Given the description of an element on the screen output the (x, y) to click on. 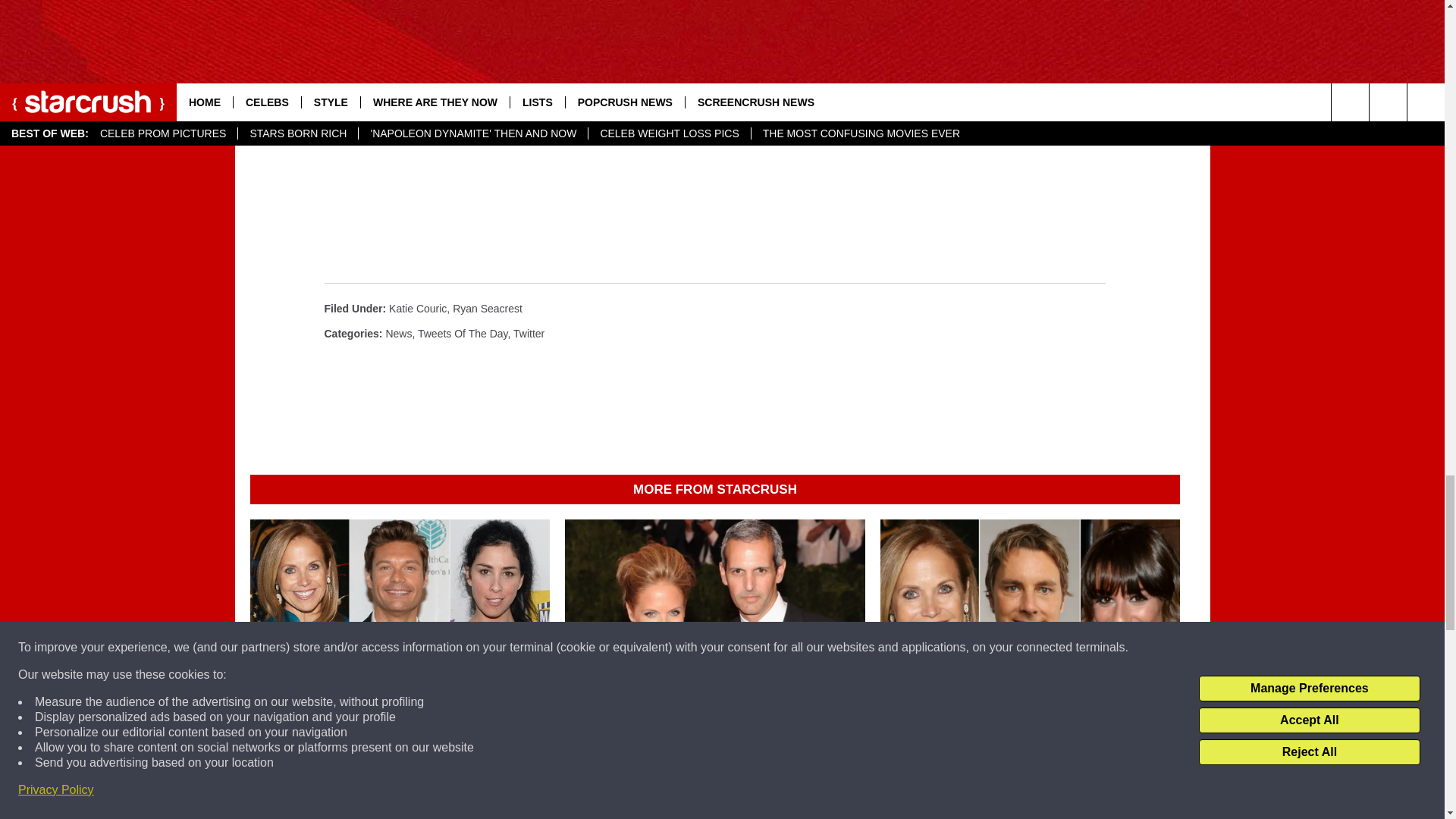
Ryan Seacrest (487, 308)
News (398, 333)
Katie Couric (417, 308)
